Given the description of an element on the screen output the (x, y) to click on. 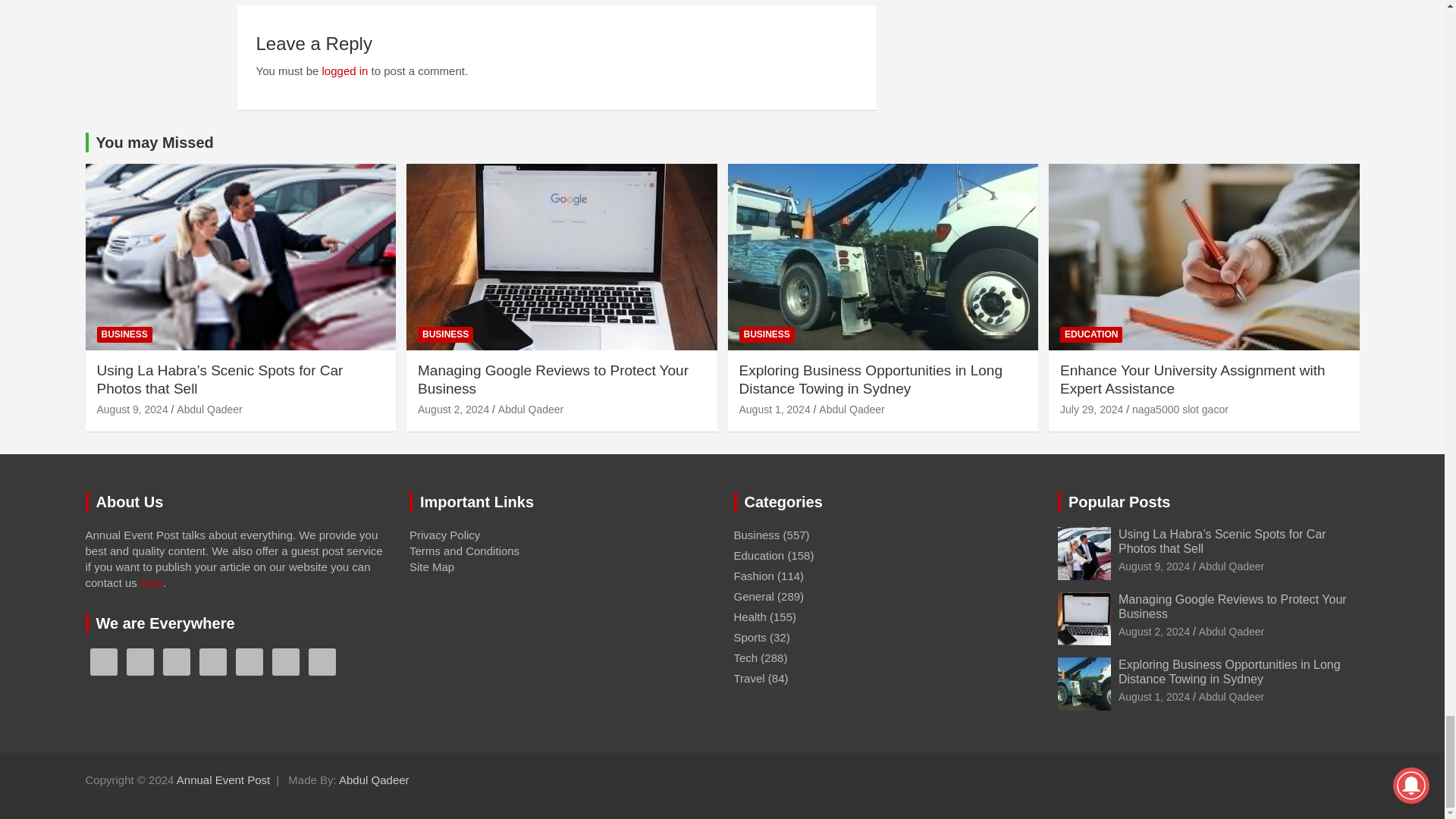
Managing Google Reviews to Protect Your Business (453, 409)
logged in (344, 70)
